Given the description of an element on the screen output the (x, y) to click on. 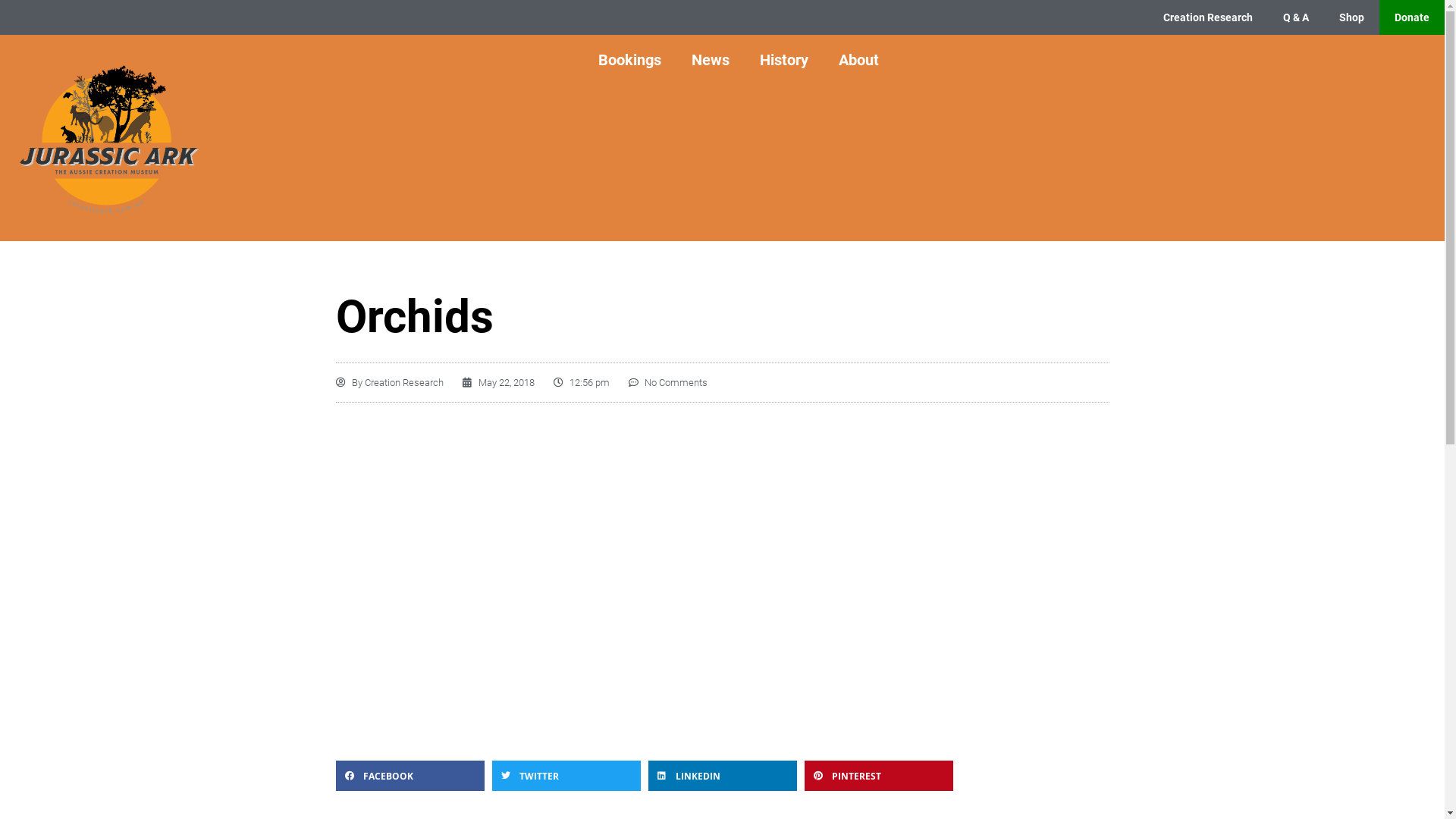
Bookings Element type: text (629, 59)
No Comments Element type: text (666, 382)
Shop Element type: text (1351, 17)
Creation Research Element type: text (1207, 17)
News Element type: text (710, 59)
Donate Element type: text (1411, 17)
Q & A Element type: text (1295, 17)
About Element type: text (858, 59)
By Creation Research Element type: text (388, 382)
May 22, 2018 Element type: text (498, 382)
History Element type: text (783, 59)
